Given the description of an element on the screen output the (x, y) to click on. 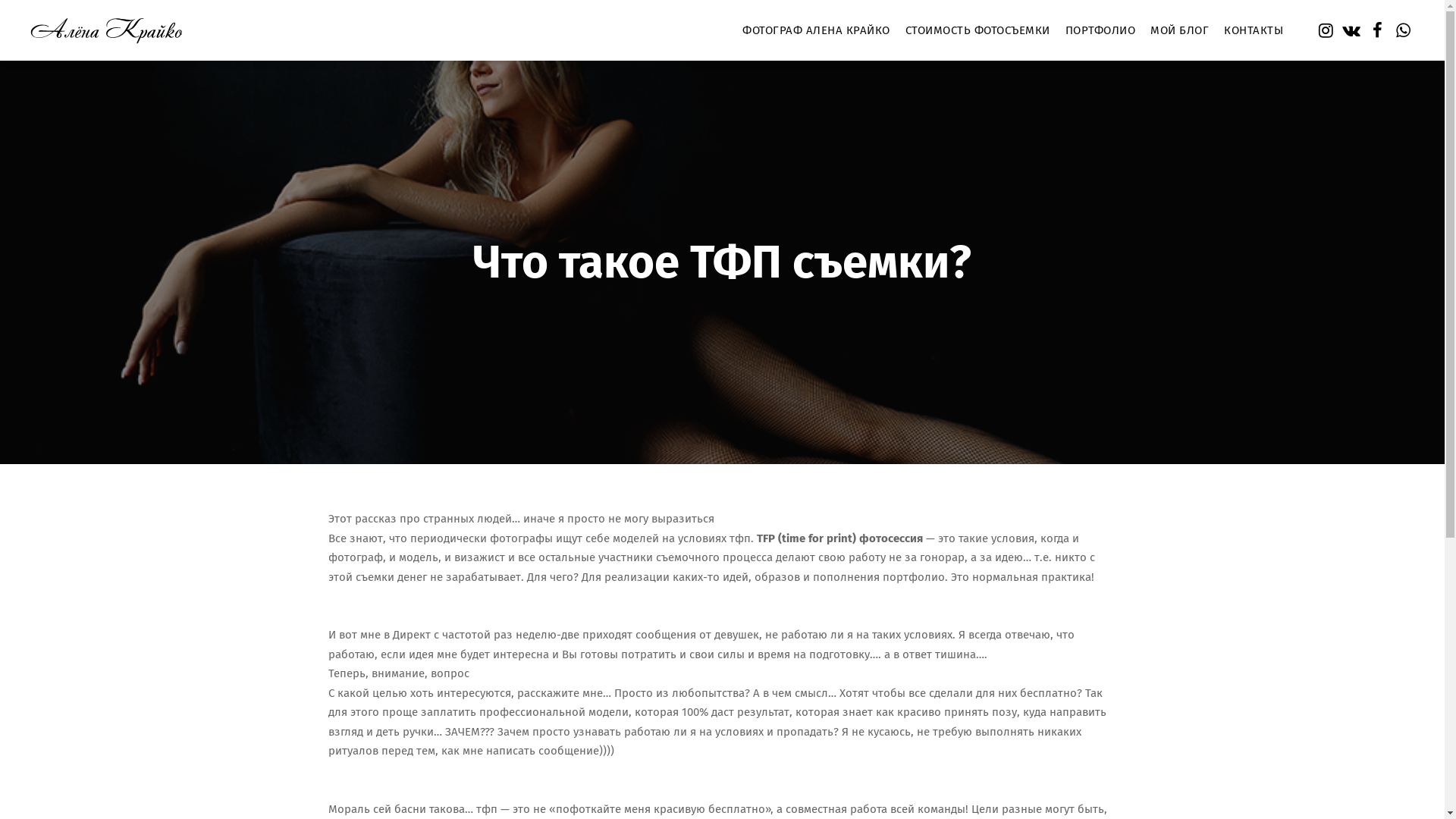
Instagram Element type: hover (1325, 29)
Facebook Element type: hover (1376, 29)
VKontakte Element type: hover (1350, 29)
Whatsapp Element type: hover (1402, 29)
